Given the description of an element on the screen output the (x, y) to click on. 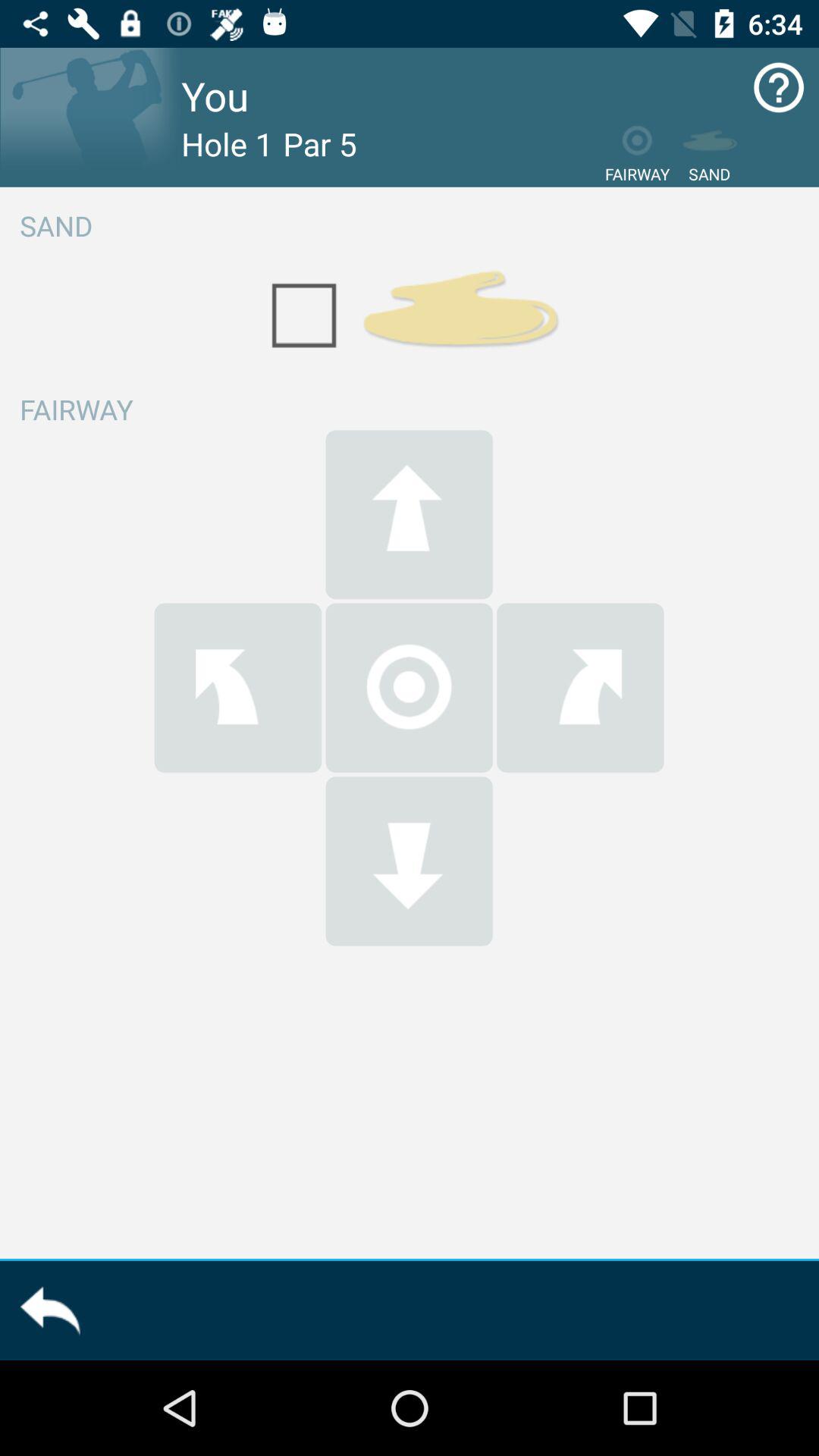
go left button (237, 687)
